Given the description of an element on the screen output the (x, y) to click on. 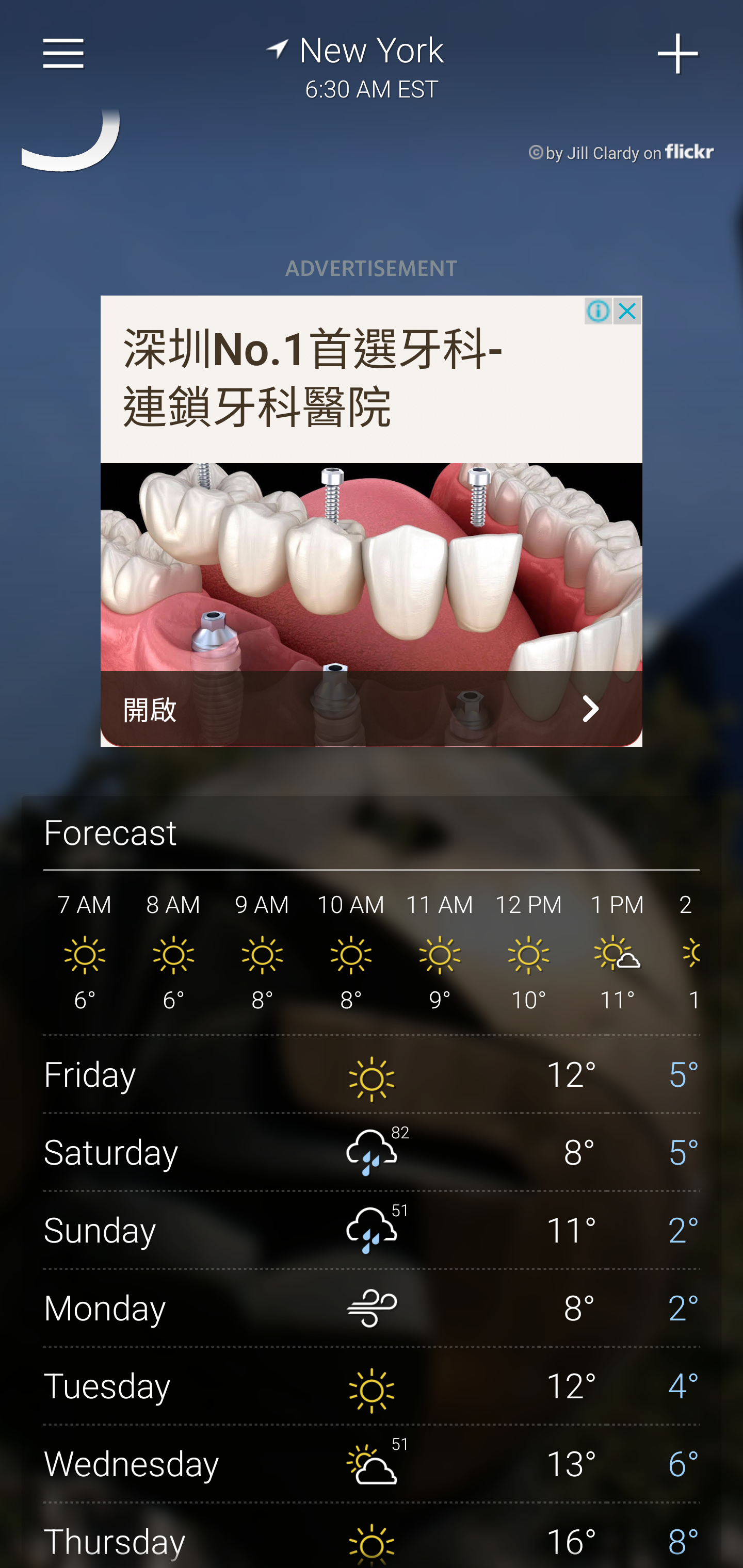
Sidebar (64, 54)
Add City (678, 53)
深圳No.1首選牙科- 連鎖牙科醫院 深圳No.1首選牙科- 
 連鎖牙科醫院 (313, 379)
開啟 (371, 708)
